Given the description of an element on the screen output the (x, y) to click on. 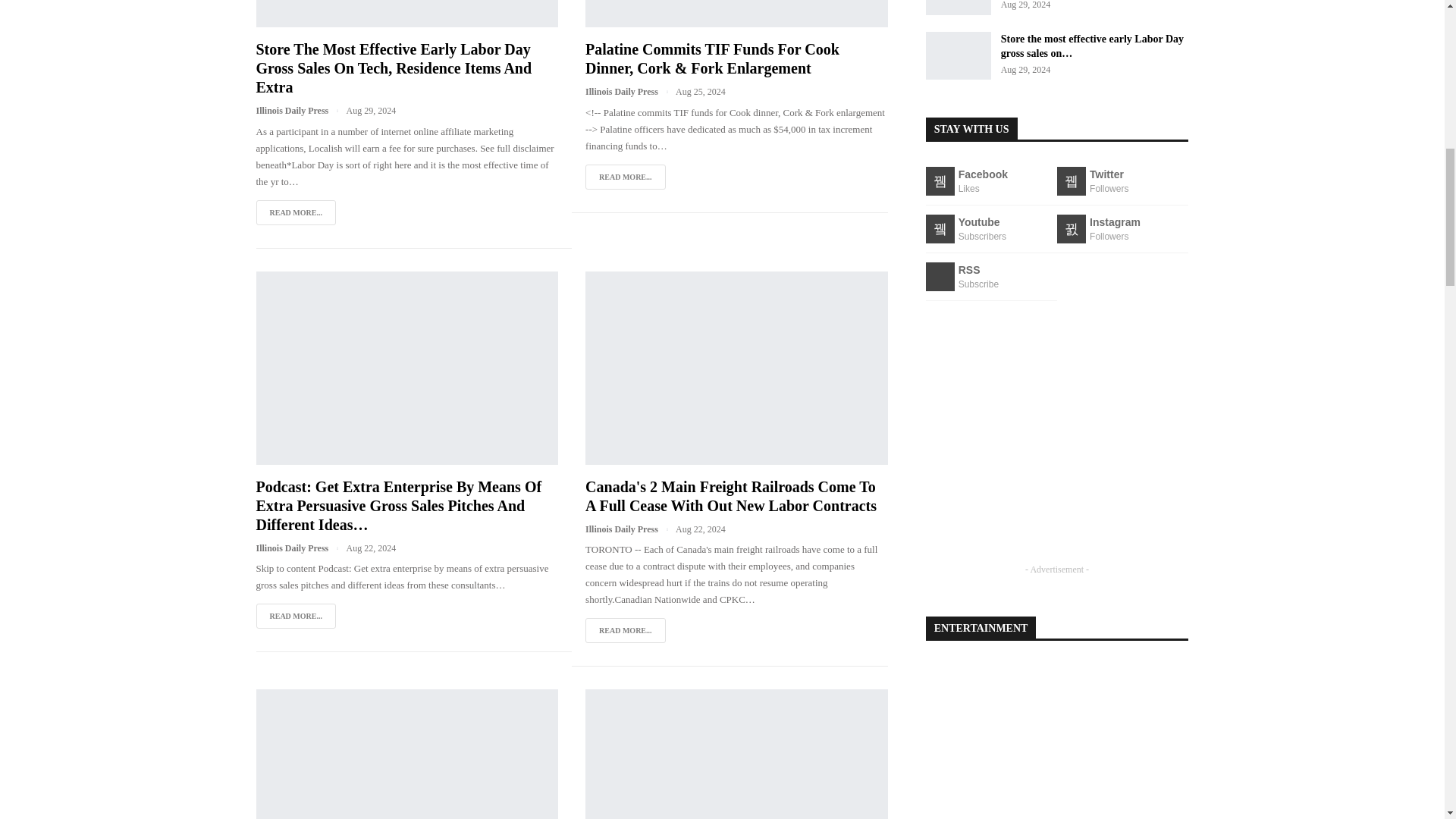
Browse Author Articles (630, 529)
Browse Author Articles (301, 547)
Browse Author Articles (301, 110)
Browse Author Articles (630, 91)
READ MORE... (625, 176)
